Given the description of an element on the screen output the (x, y) to click on. 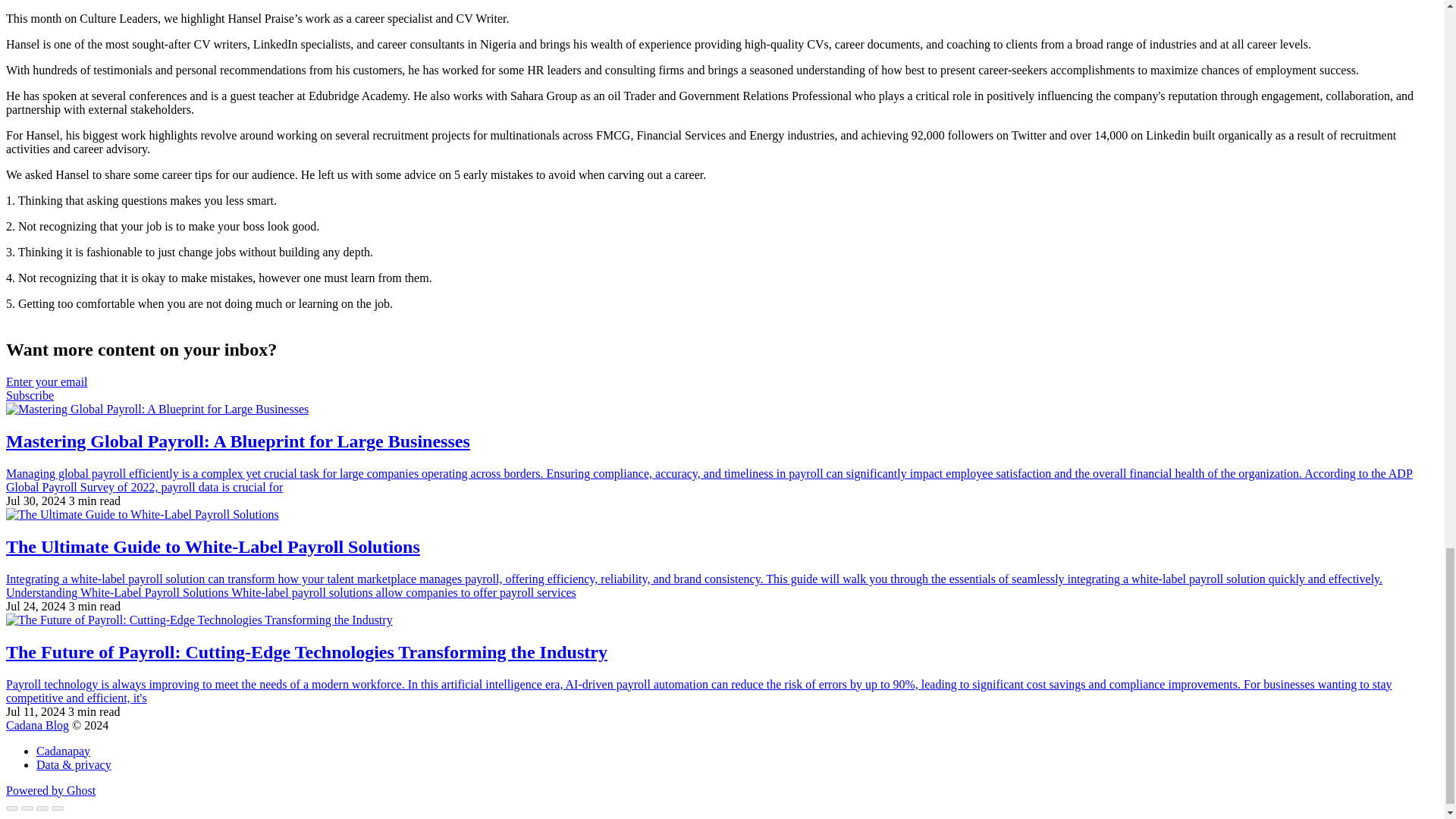
Share (27, 807)
Cadana Blog (36, 725)
Toggle fullscreen (42, 807)
Cadanapay (63, 750)
Powered by Ghost (50, 789)
